Given the description of an element on the screen output the (x, y) to click on. 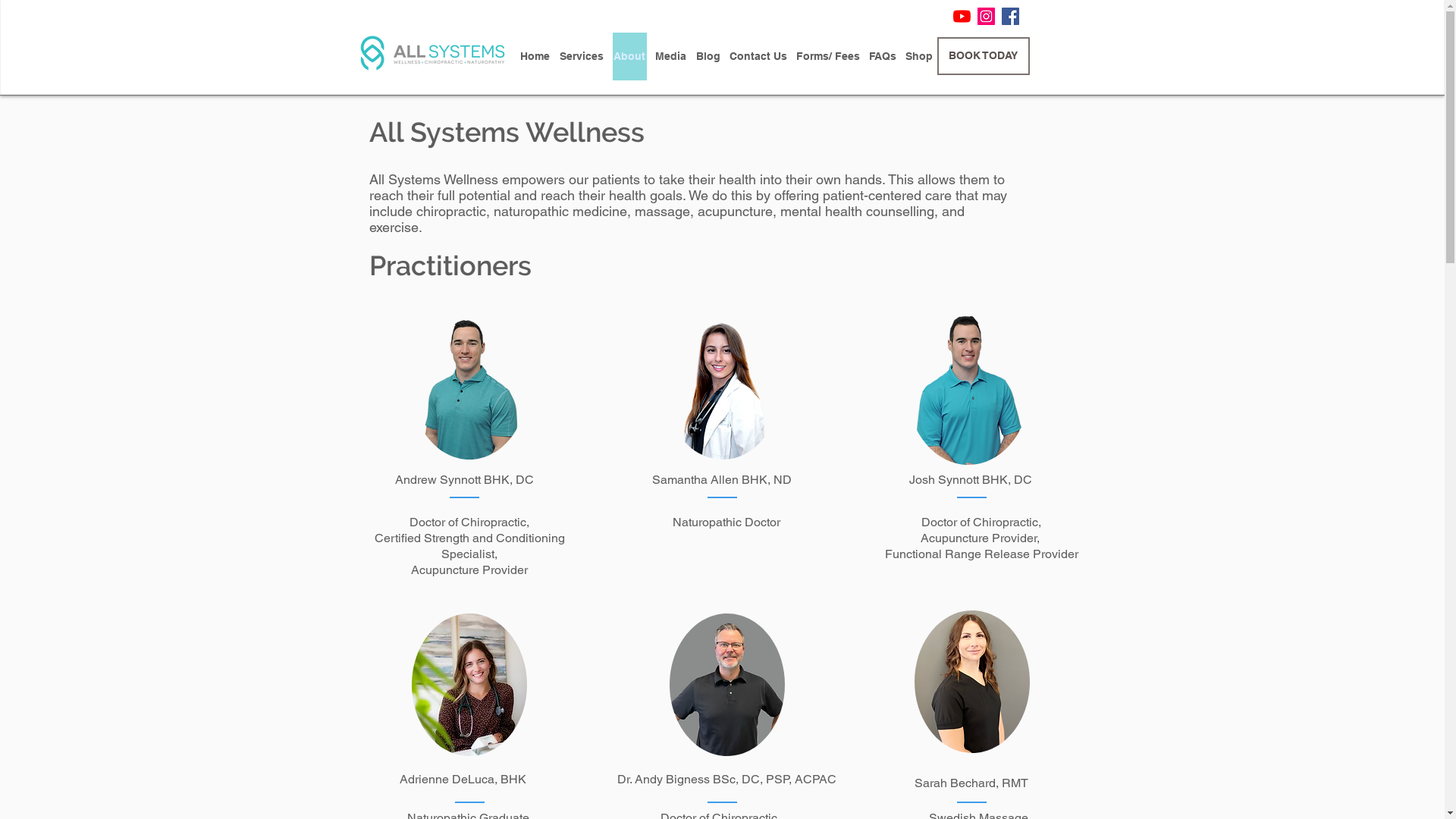
Forms/ Fees Element type: text (826, 56)
Media Element type: text (670, 56)
Shop Element type: text (917, 56)
BOOK TODAY Element type: text (983, 56)
Contact Us Element type: text (757, 56)
FAQs Element type: text (881, 56)
Blog Element type: text (707, 56)
About Element type: text (629, 56)
Home Element type: text (534, 56)
